Given the description of an element on the screen output the (x, y) to click on. 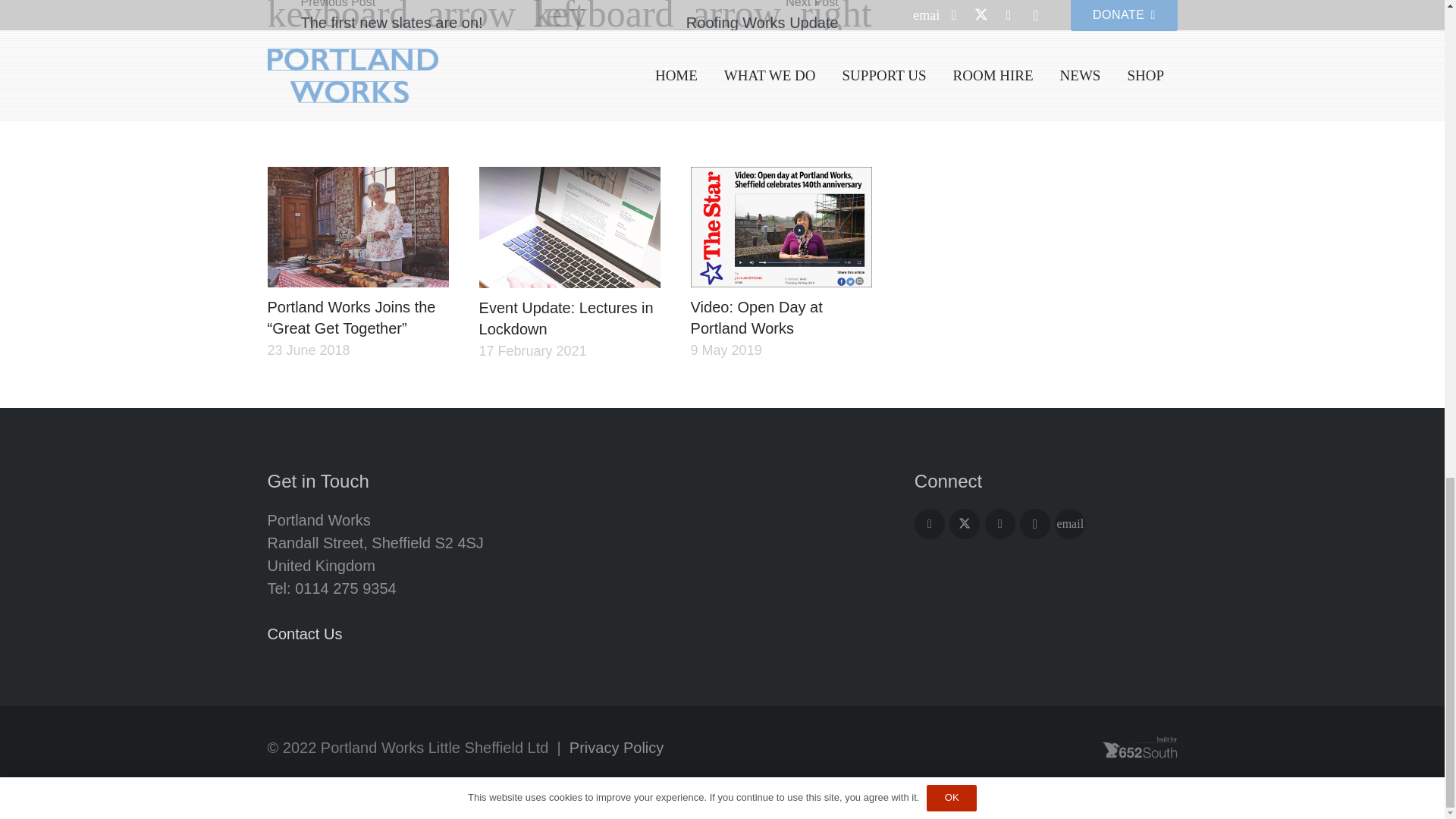
Facebook (929, 523)
Roofing Works Update (720, 17)
LinkedIn (999, 523)
Twitter (964, 523)
The first new slates are on! (417, 17)
